Given the description of an element on the screen output the (x, y) to click on. 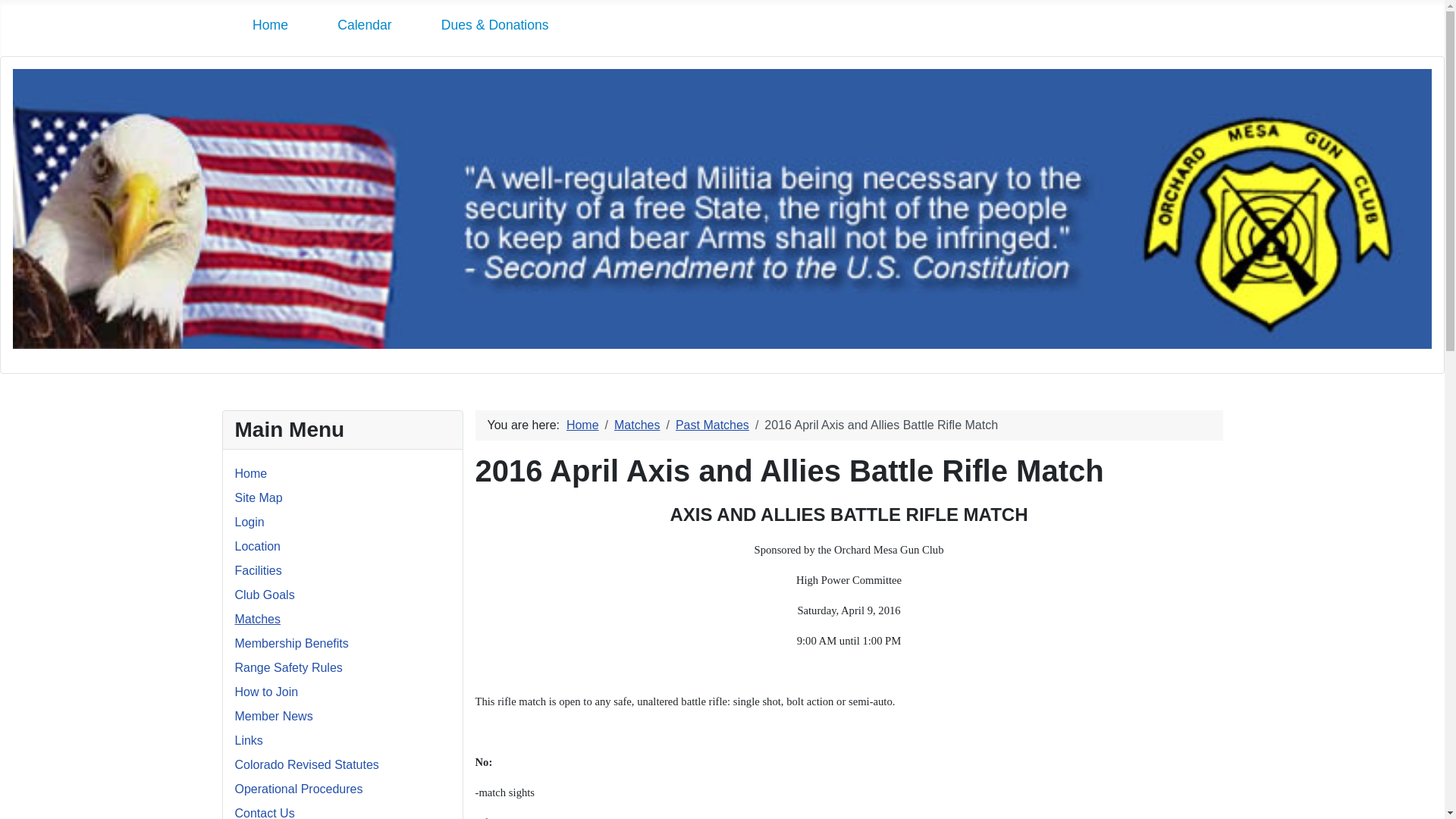
Matches (257, 618)
Login (249, 521)
Site Map (258, 497)
Calendar (364, 24)
Facilities (258, 570)
Home (270, 24)
Location (257, 545)
Links (248, 739)
Club Goals (264, 594)
How to Join (266, 691)
Operational Procedures (298, 788)
Membership Benefits (291, 643)
Colorado Revised Statutes (306, 764)
Home (250, 472)
Member News (273, 716)
